Given the description of an element on the screen output the (x, y) to click on. 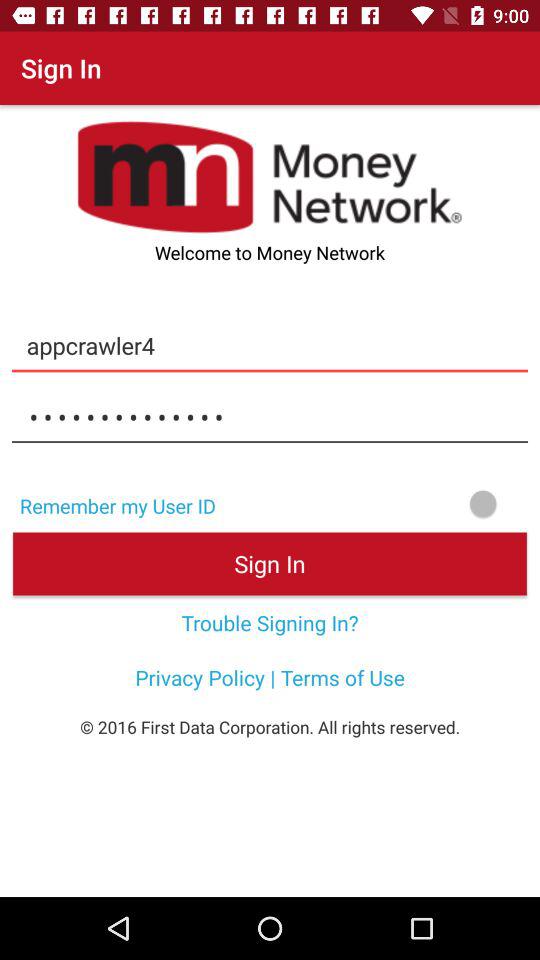
launch icon on the right (384, 503)
